Given the description of an element on the screen output the (x, y) to click on. 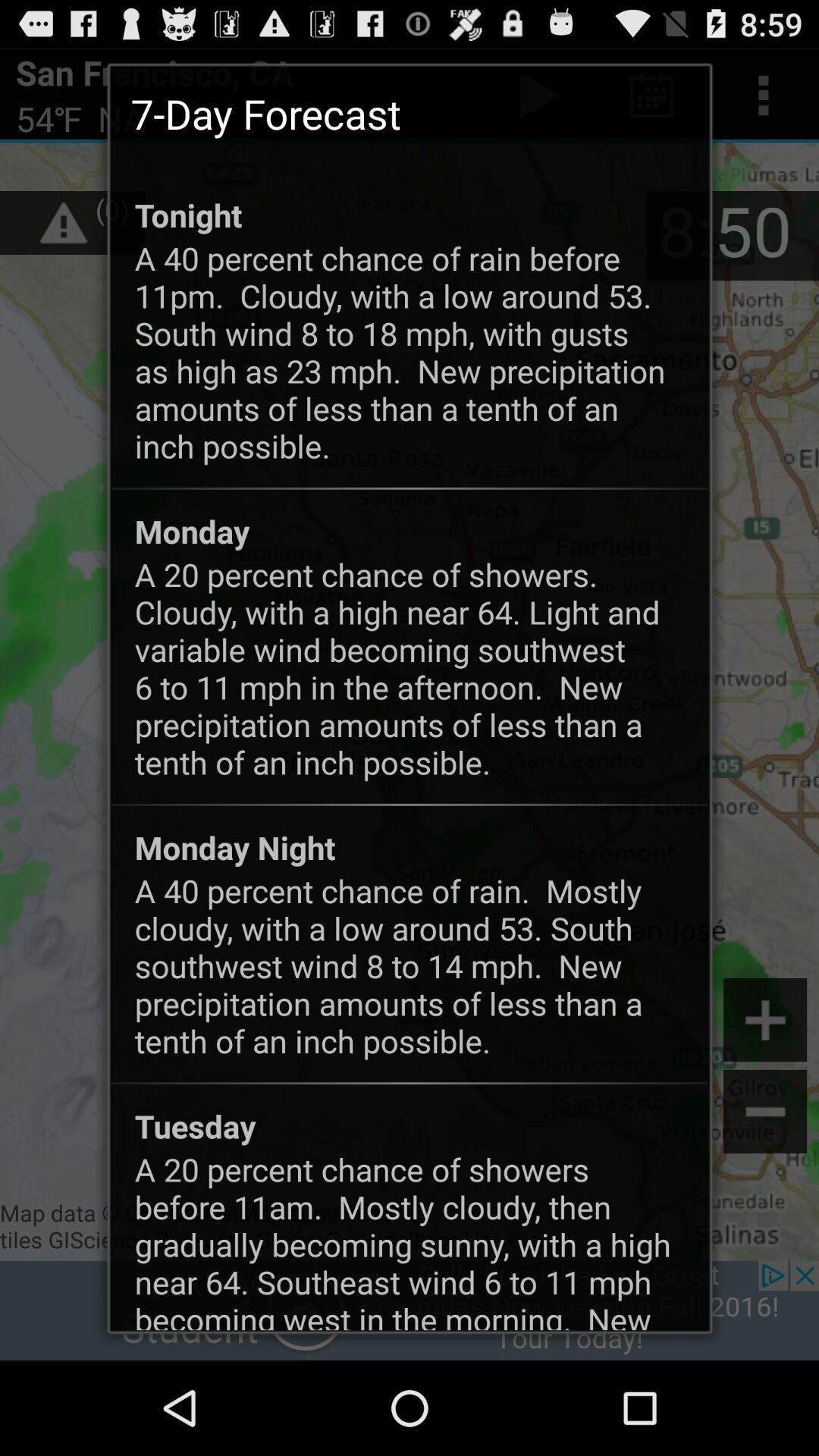
press icon above the a 40 percent icon (234, 847)
